Given the description of an element on the screen output the (x, y) to click on. 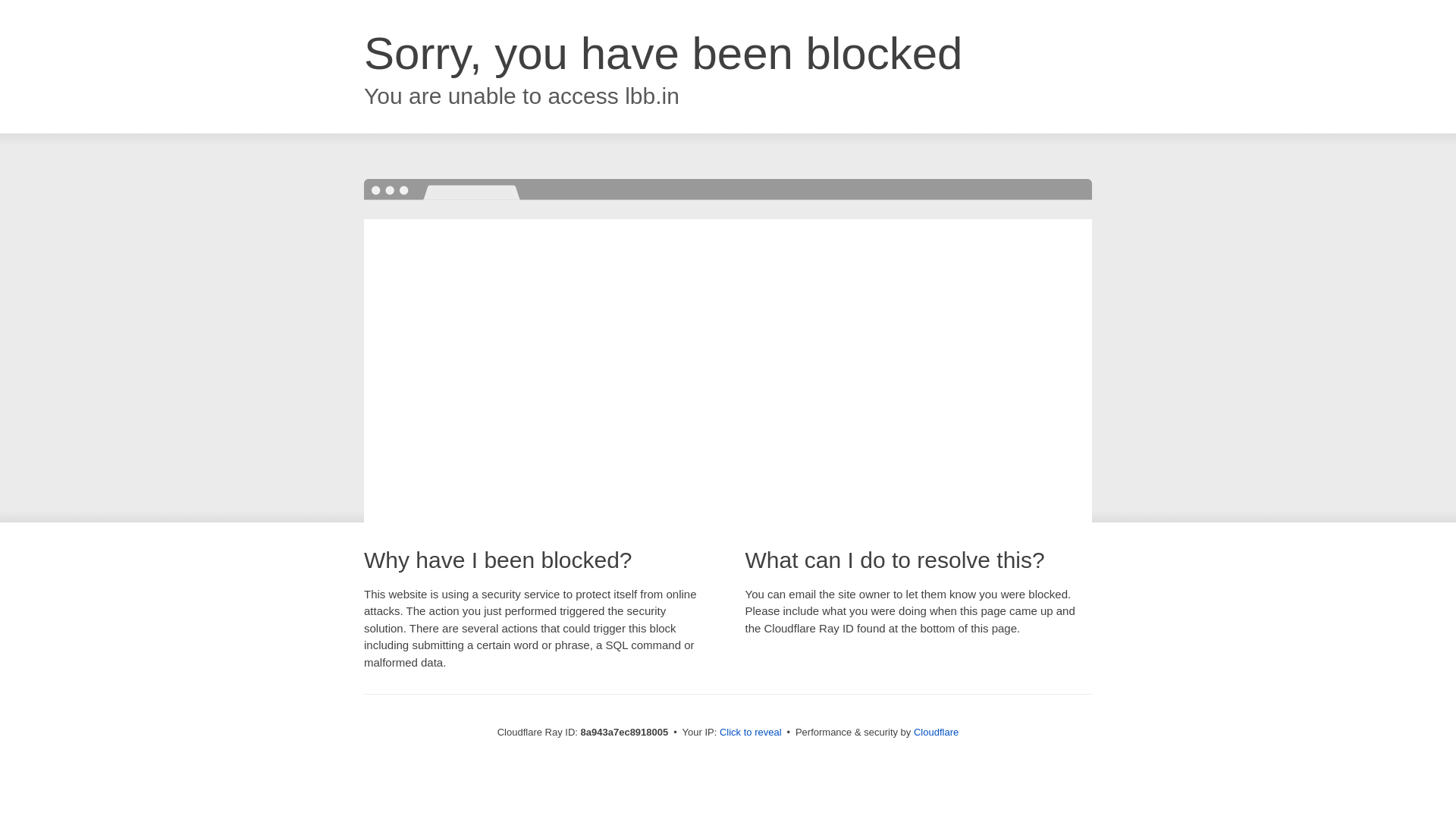
Click to reveal (750, 732)
Cloudflare (936, 731)
